Given the description of an element on the screen output the (x, y) to click on. 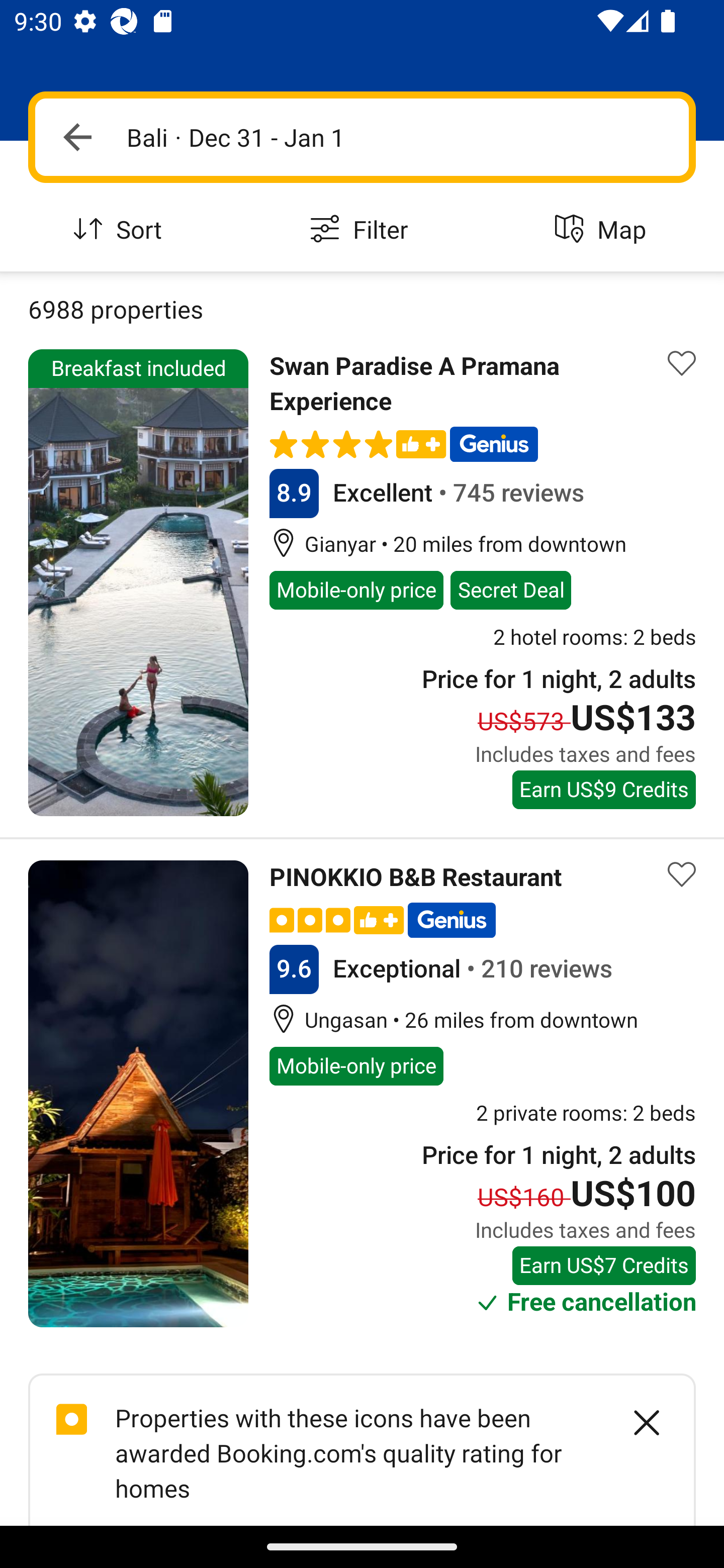
Navigate up Bali · Dec 31 - Jan 1 (362, 136)
Navigate up (77, 136)
Sort (120, 230)
Filter (361, 230)
Map (603, 230)
Save property to list (681, 363)
Save property to list (681, 874)
Clear (635, 1421)
